Given the description of an element on the screen output the (x, y) to click on. 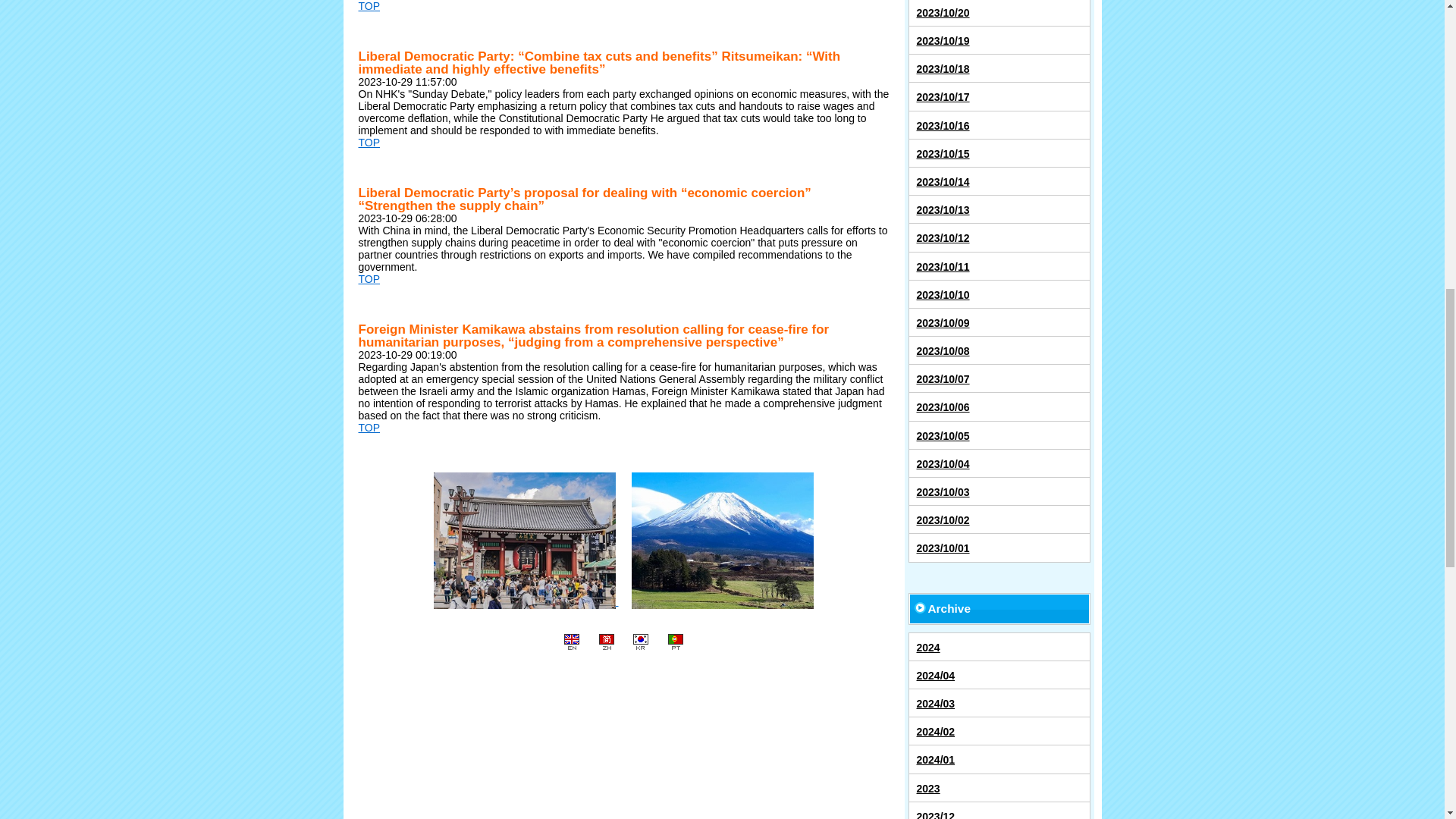
TOP (369, 427)
TOP (369, 142)
TOP (369, 6)
TOP (369, 278)
